Given the description of an element on the screen output the (x, y) to click on. 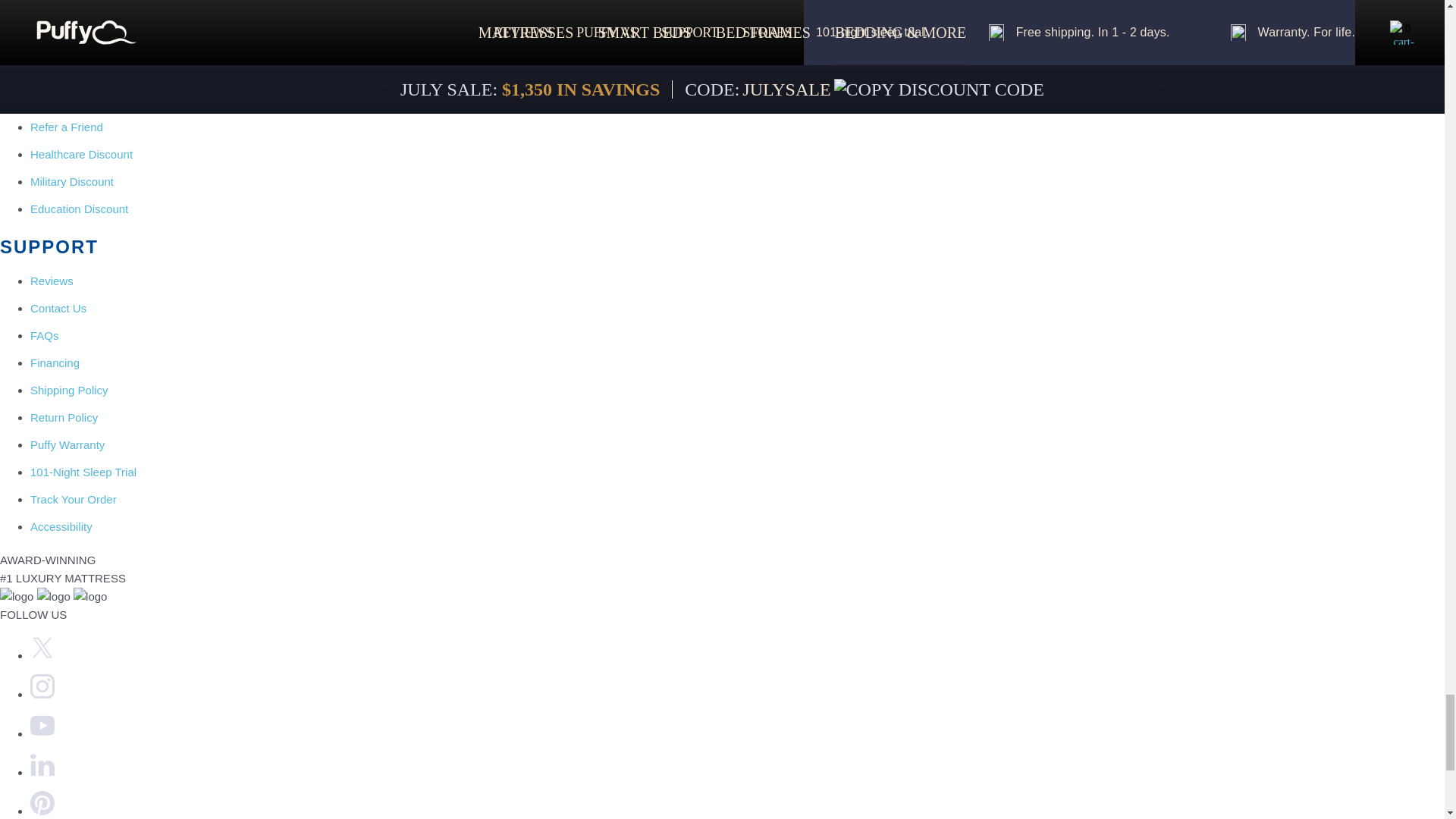
Puffy Mattress on Twitter (42, 655)
Puffy Mattress on Instagram (42, 694)
Puffy Mattress on Pinterest (42, 810)
Puffy Mattress on LinkedIn (42, 771)
Puffy Mattress on Youtube (42, 733)
